Given the description of an element on the screen output the (x, y) to click on. 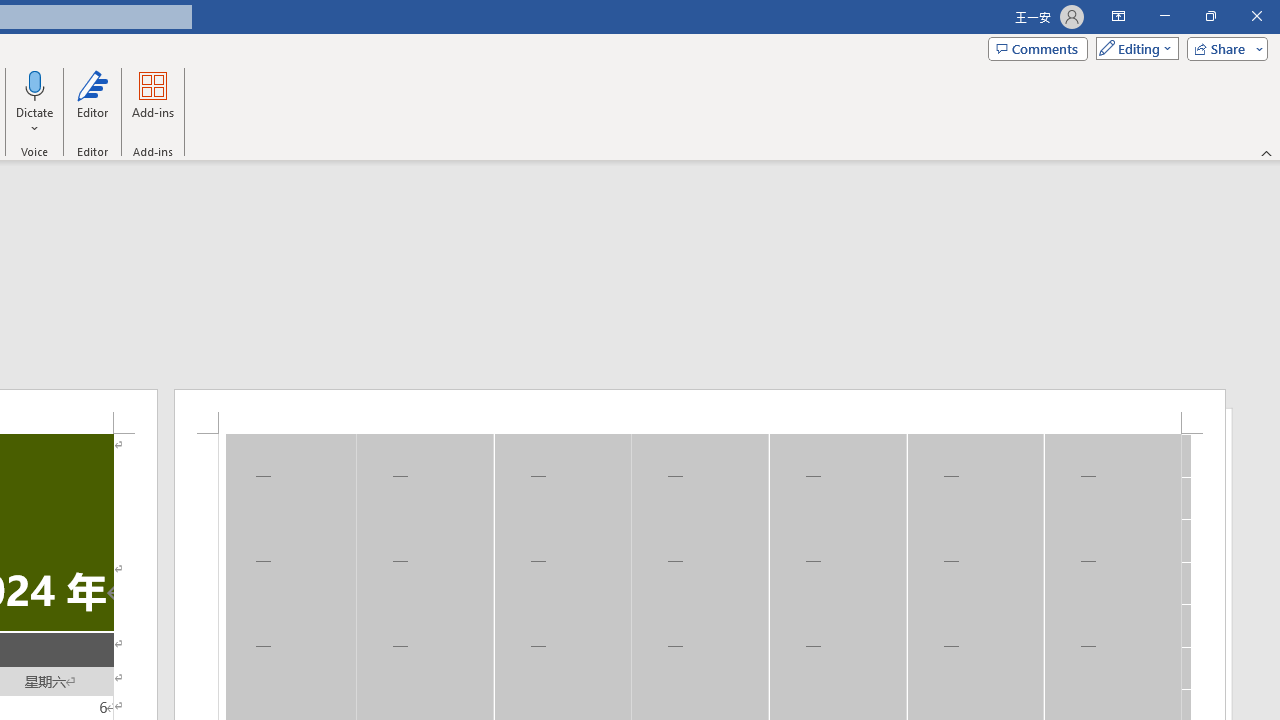
Mode (1133, 47)
